Given the description of an element on the screen output the (x, y) to click on. 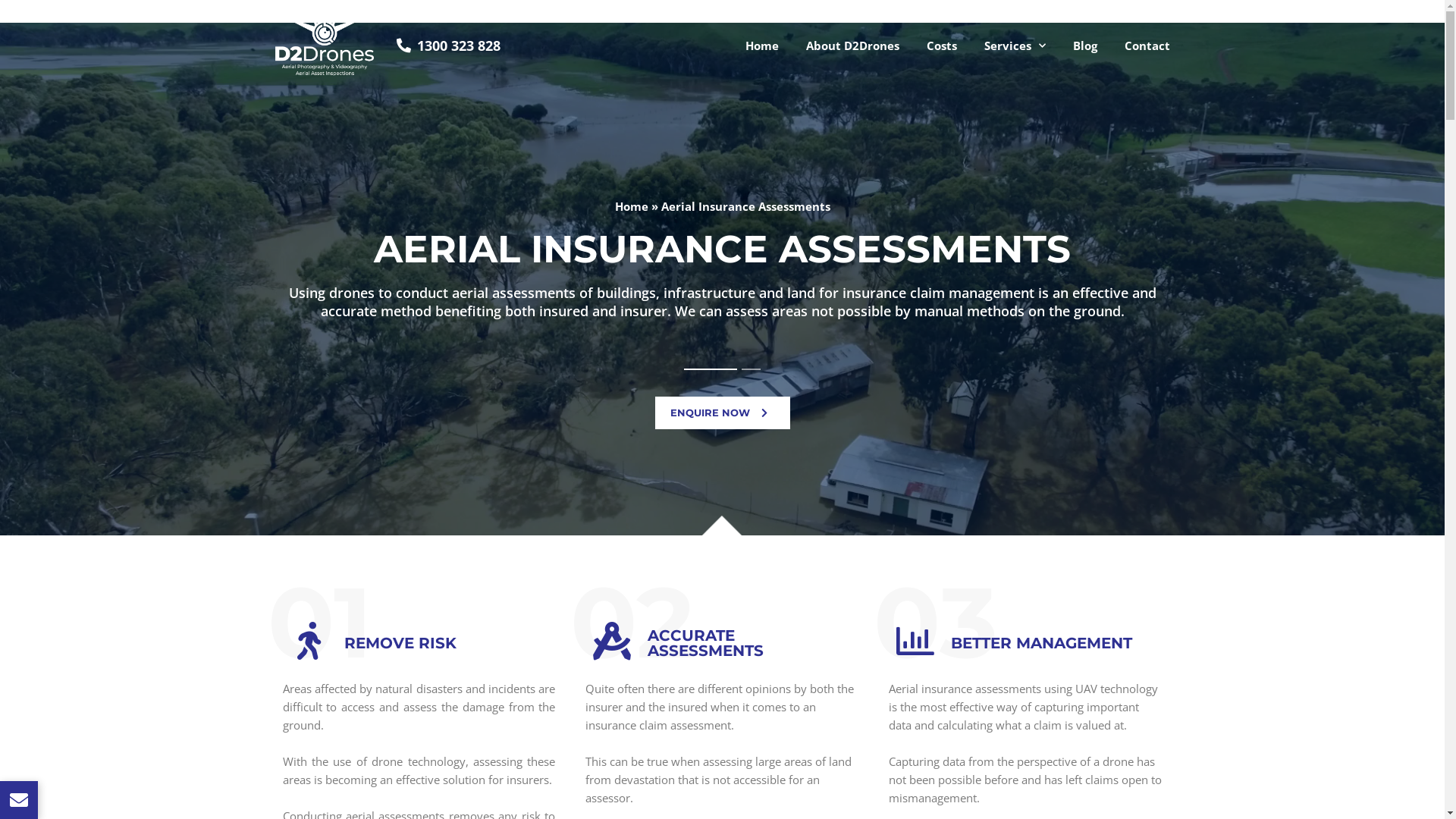
Contact Element type: text (1146, 45)
Home Element type: text (761, 45)
Costs Element type: text (941, 45)
About D2Drones Element type: text (851, 45)
Services Element type: text (1014, 45)
Blog Element type: text (1084, 45)
ENQUIRE NOW Element type: text (722, 412)
1300 323 828 Element type: text (447, 45)
Home Element type: text (630, 205)
